Given the description of an element on the screen output the (x, y) to click on. 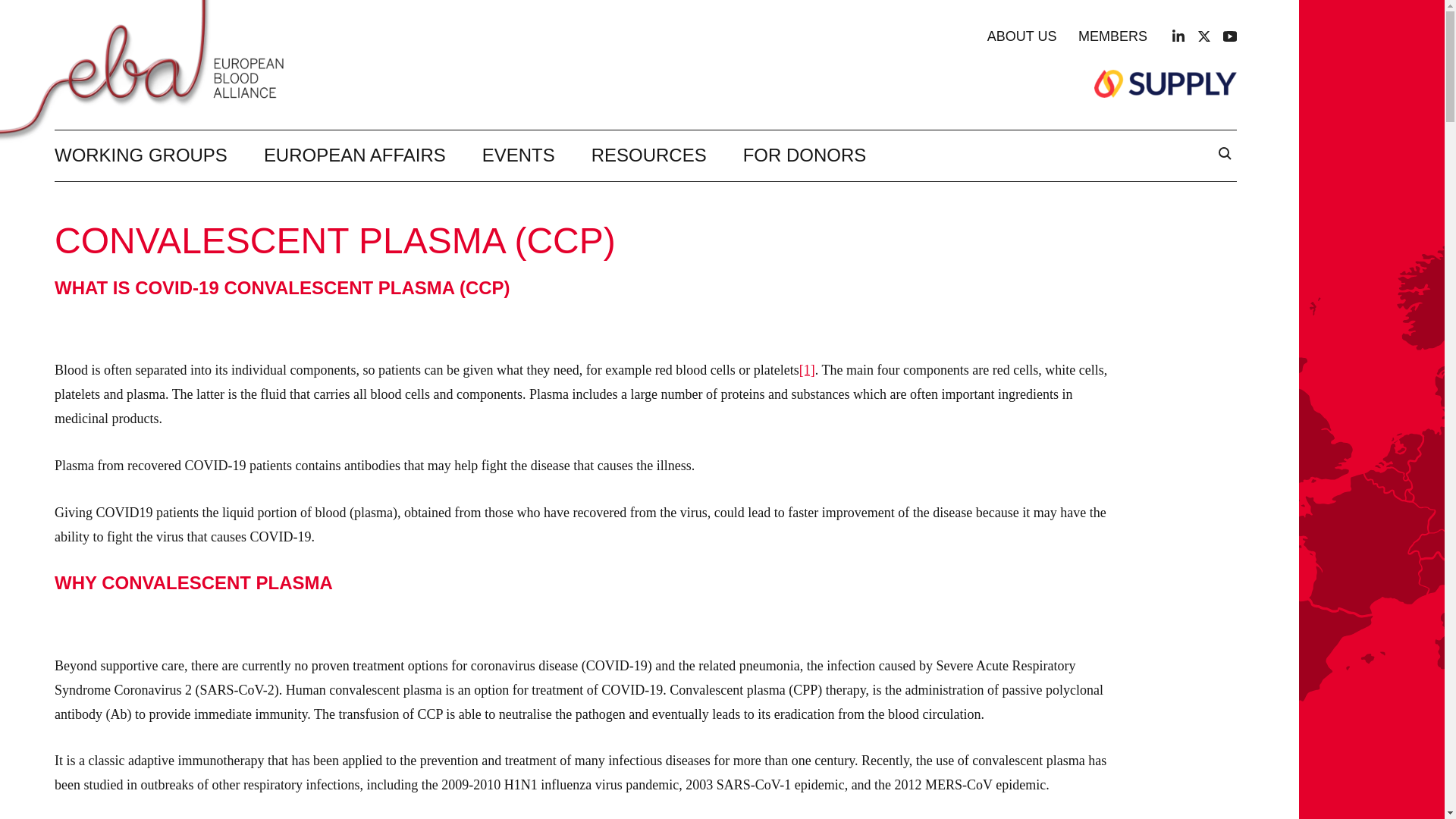
RESOURCES (648, 155)
WORKING GROUPS (141, 155)
EUROPEAN AFFAIRS (354, 155)
FOR DONORS (804, 155)
Search (1224, 155)
European Blood Alliance (153, 69)
EVENTS (517, 155)
ABOUT US (1022, 36)
MEMBERS (1112, 36)
